Given the description of an element on the screen output the (x, y) to click on. 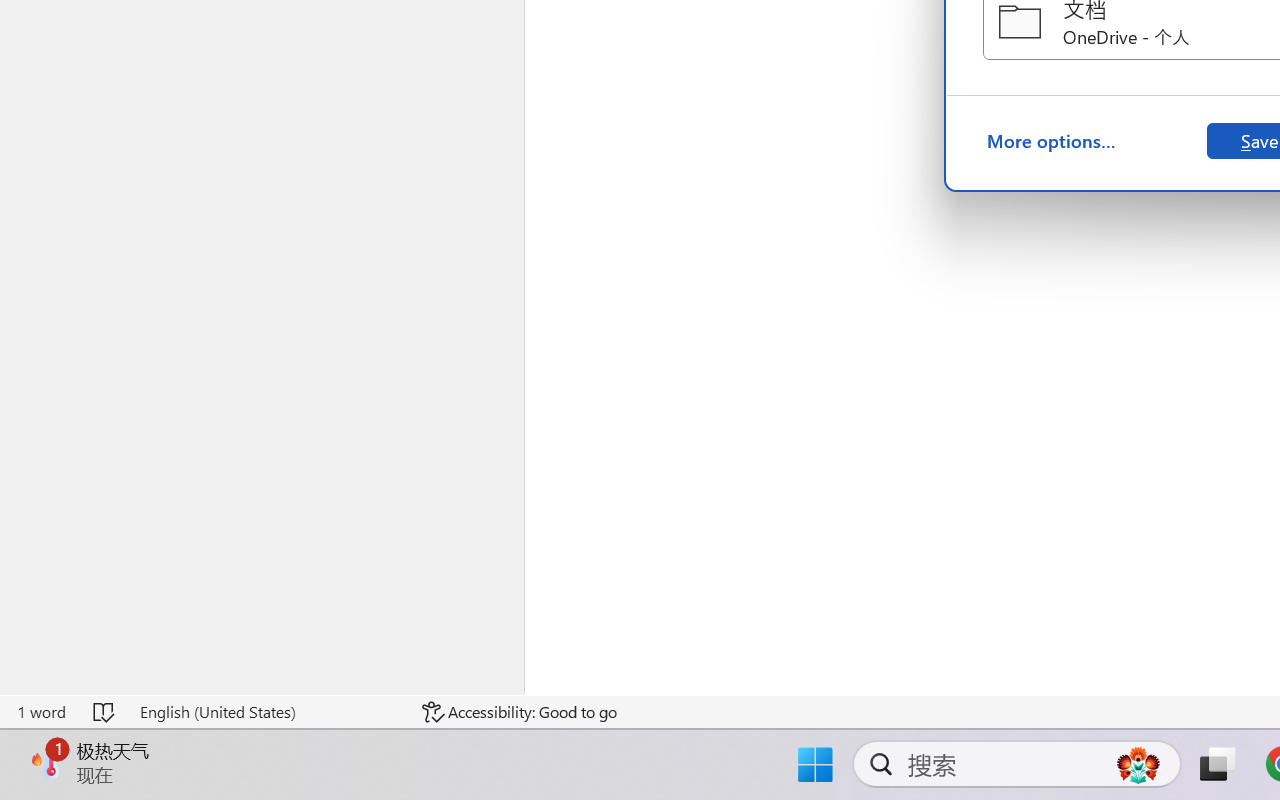
AutomationID: DynamicSearchBoxGleamImage (1138, 764)
Accessibility Checker Accessibility: Good to go (519, 712)
Spelling and Grammar Check No Errors (105, 712)
Word Count 1 word (41, 712)
Language English (United States) (267, 712)
AutomationID: BadgeAnchorLargeTicker (46, 762)
